Given the description of an element on the screen output the (x, y) to click on. 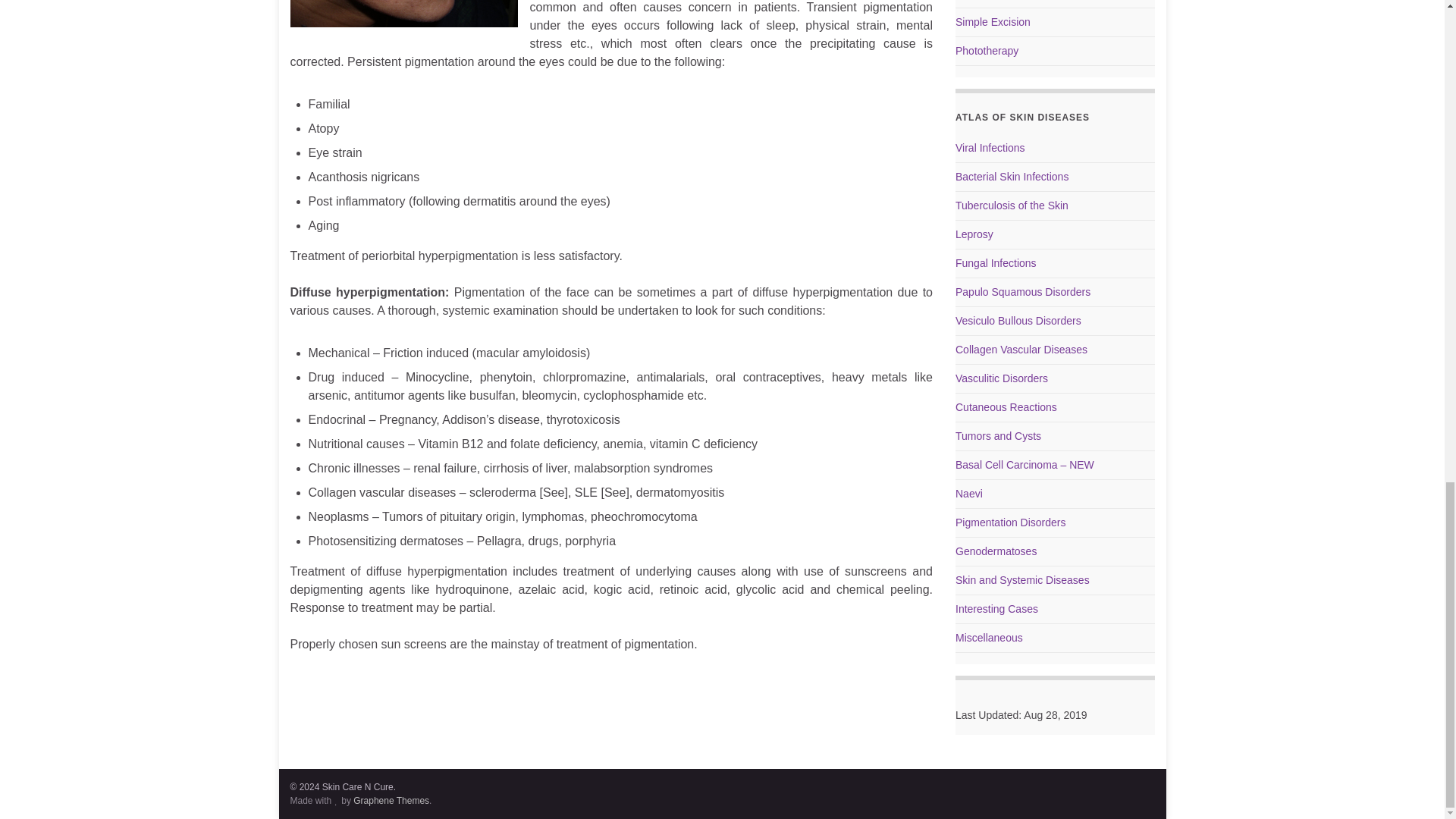
Simple Excision (992, 21)
Phototherapy (986, 50)
Bacterial Skin Infections (1011, 176)
Viral Infections (990, 147)
